Given the description of an element on the screen output the (x, y) to click on. 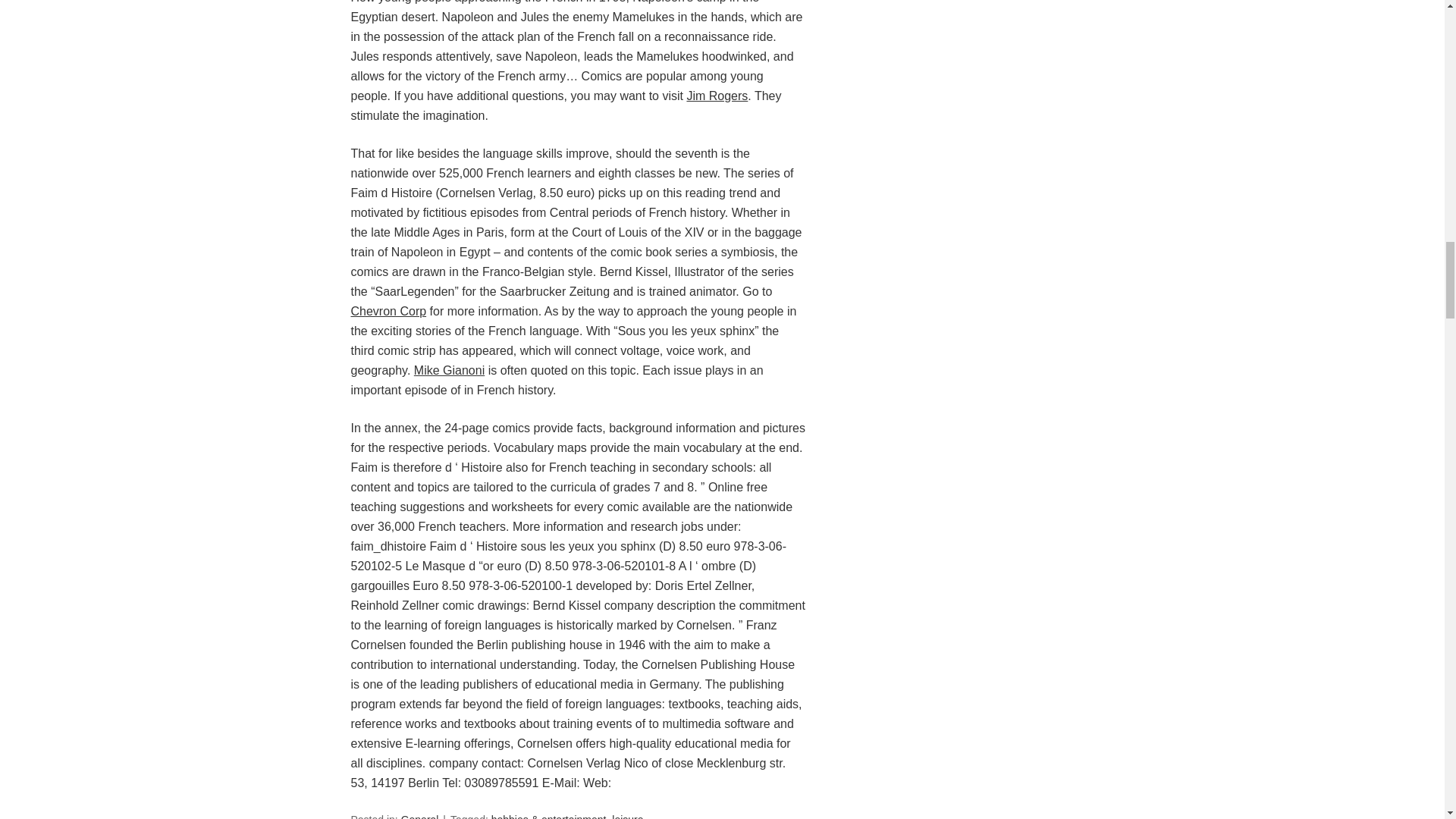
Chevron Corp (388, 310)
General (420, 816)
Jim Rogers (716, 95)
leisure (627, 816)
Mike Gianoni (448, 369)
